Given the description of an element on the screen output the (x, y) to click on. 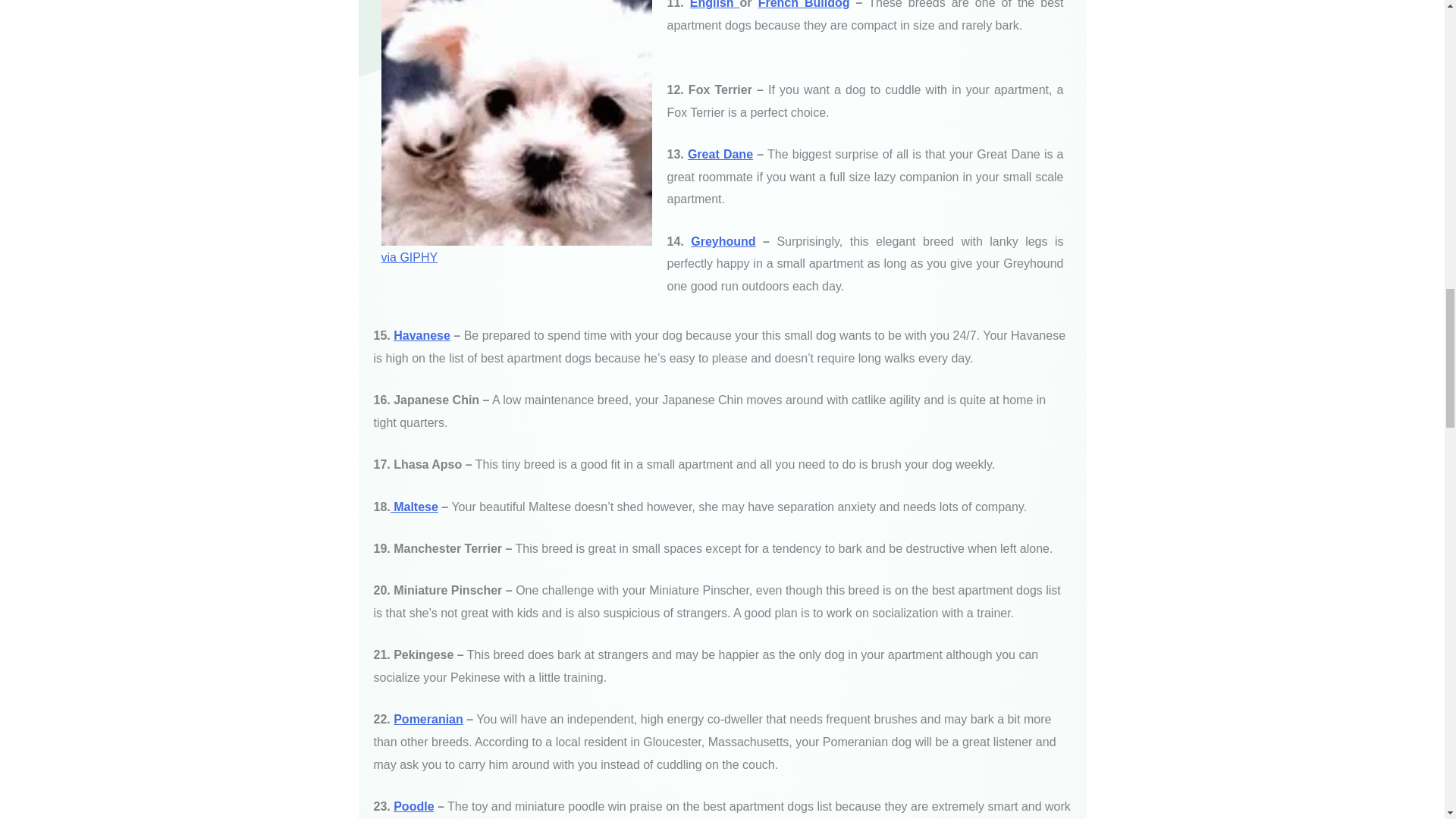
via GIPHY (409, 256)
English (714, 4)
